Given the description of an element on the screen output the (x, y) to click on. 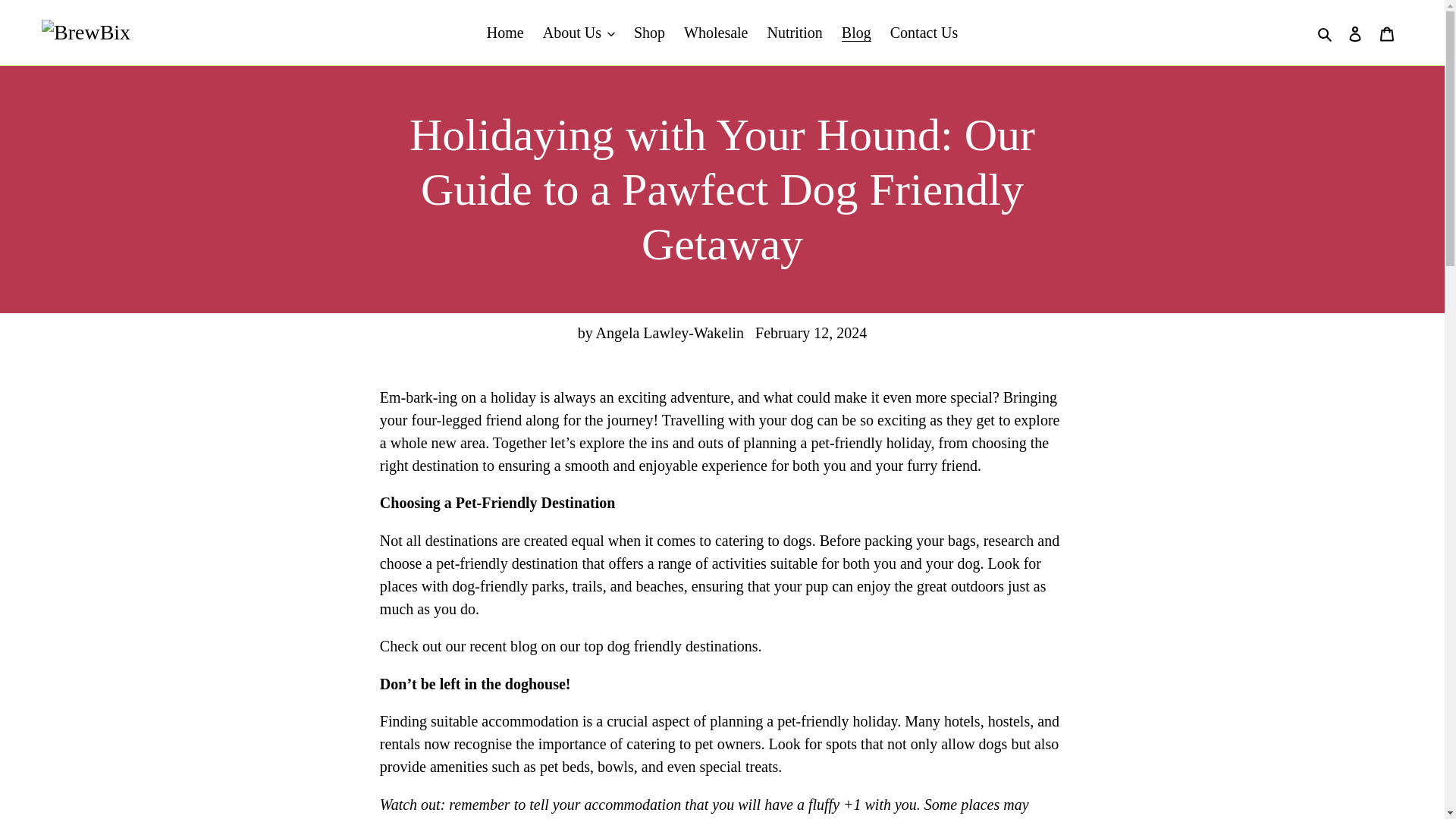
Contact Us (923, 31)
Nutrition (793, 31)
Log in (1355, 32)
Shop (649, 31)
Cart (1387, 32)
Wholesale (716, 31)
Home (505, 31)
Search (1326, 32)
About Us (579, 31)
Blog (856, 31)
